Given the description of an element on the screen output the (x, y) to click on. 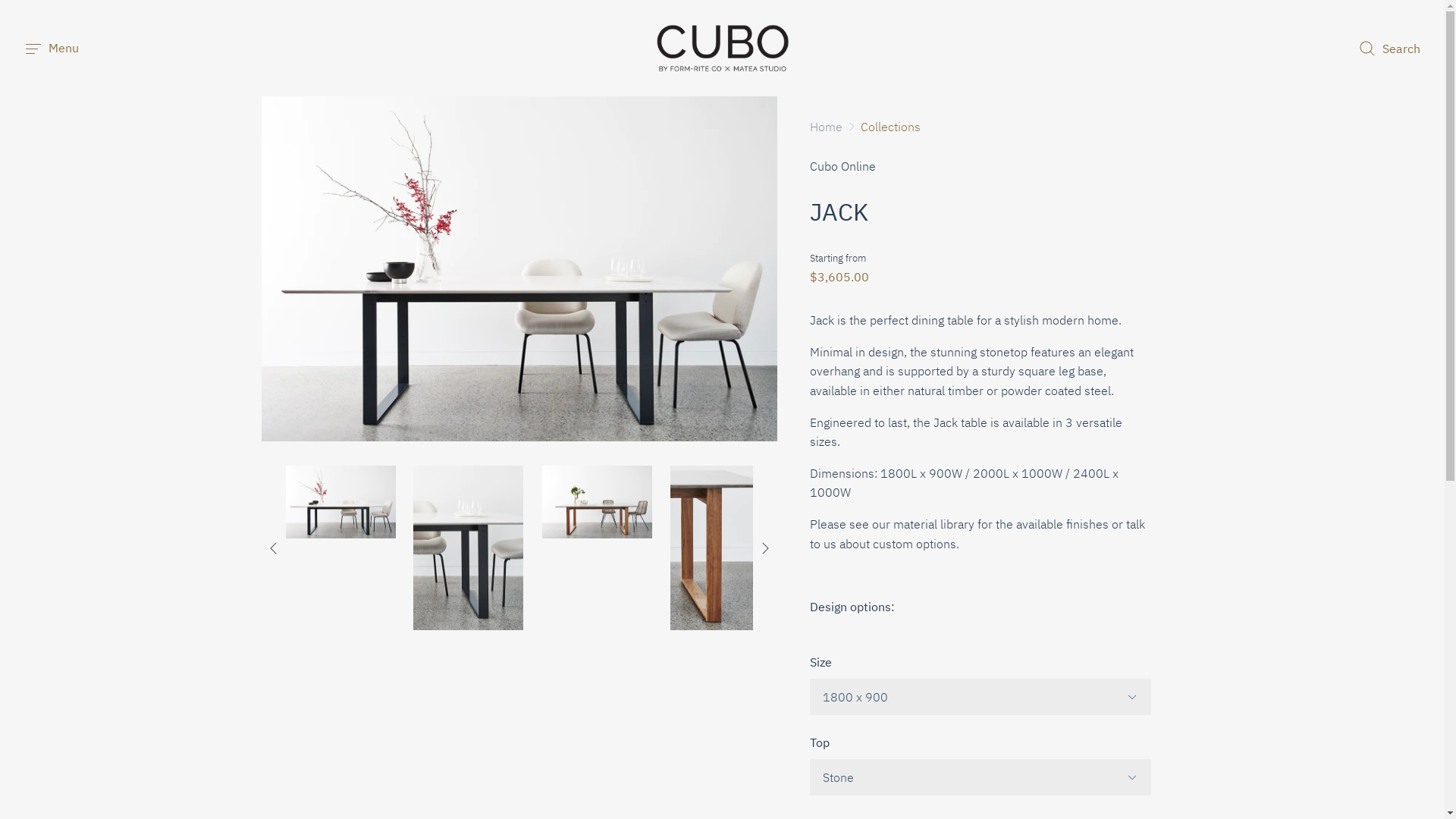
Search Element type: text (1389, 48)
Collections Element type: text (890, 126)
Menu Element type: text (51, 48)
